Given the description of an element on the screen output the (x, y) to click on. 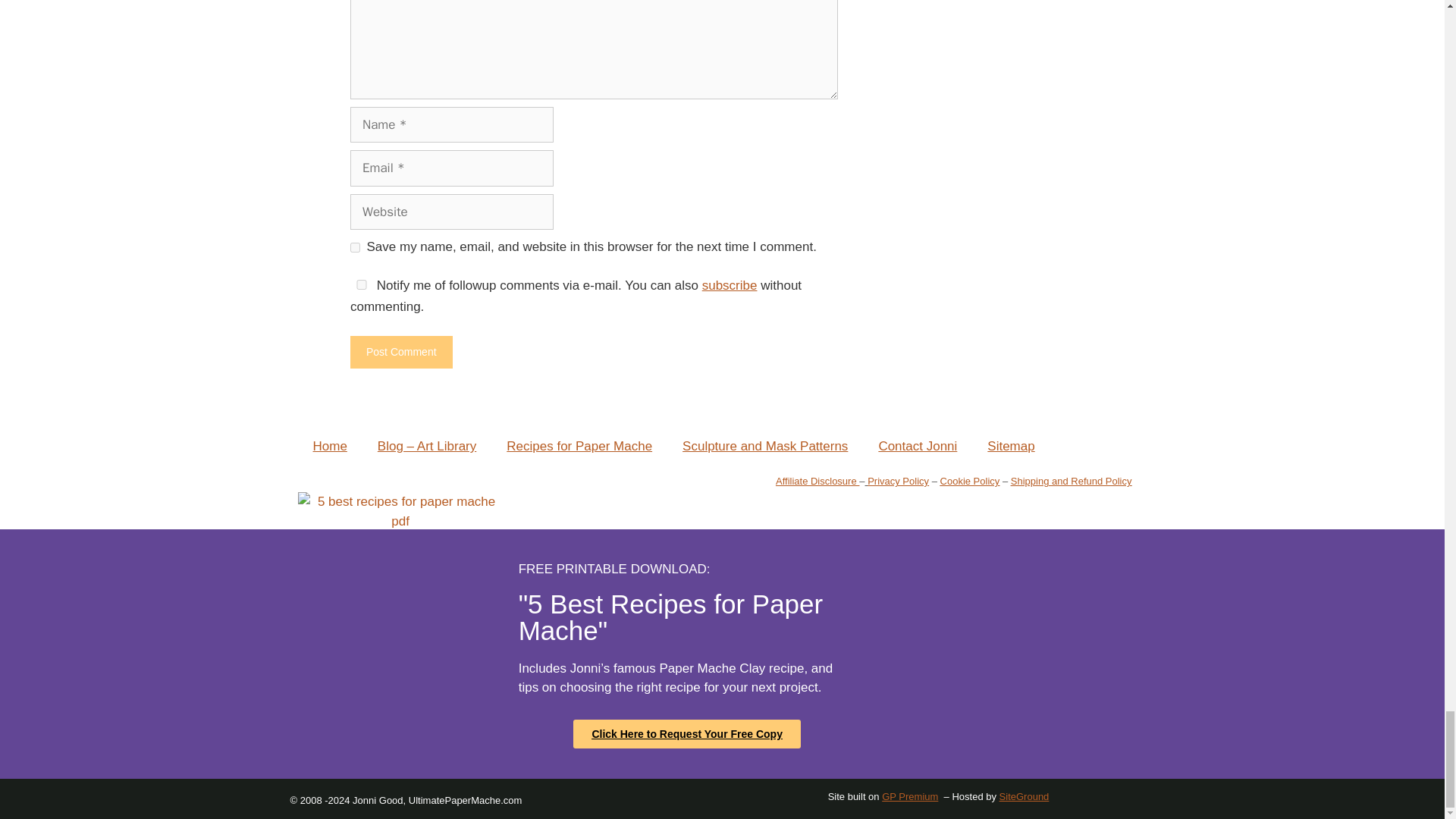
5 best recipes for paper mache pdf (399, 511)
yes (354, 247)
yes (361, 284)
Post Comment (401, 351)
